Given the description of an element on the screen output the (x, y) to click on. 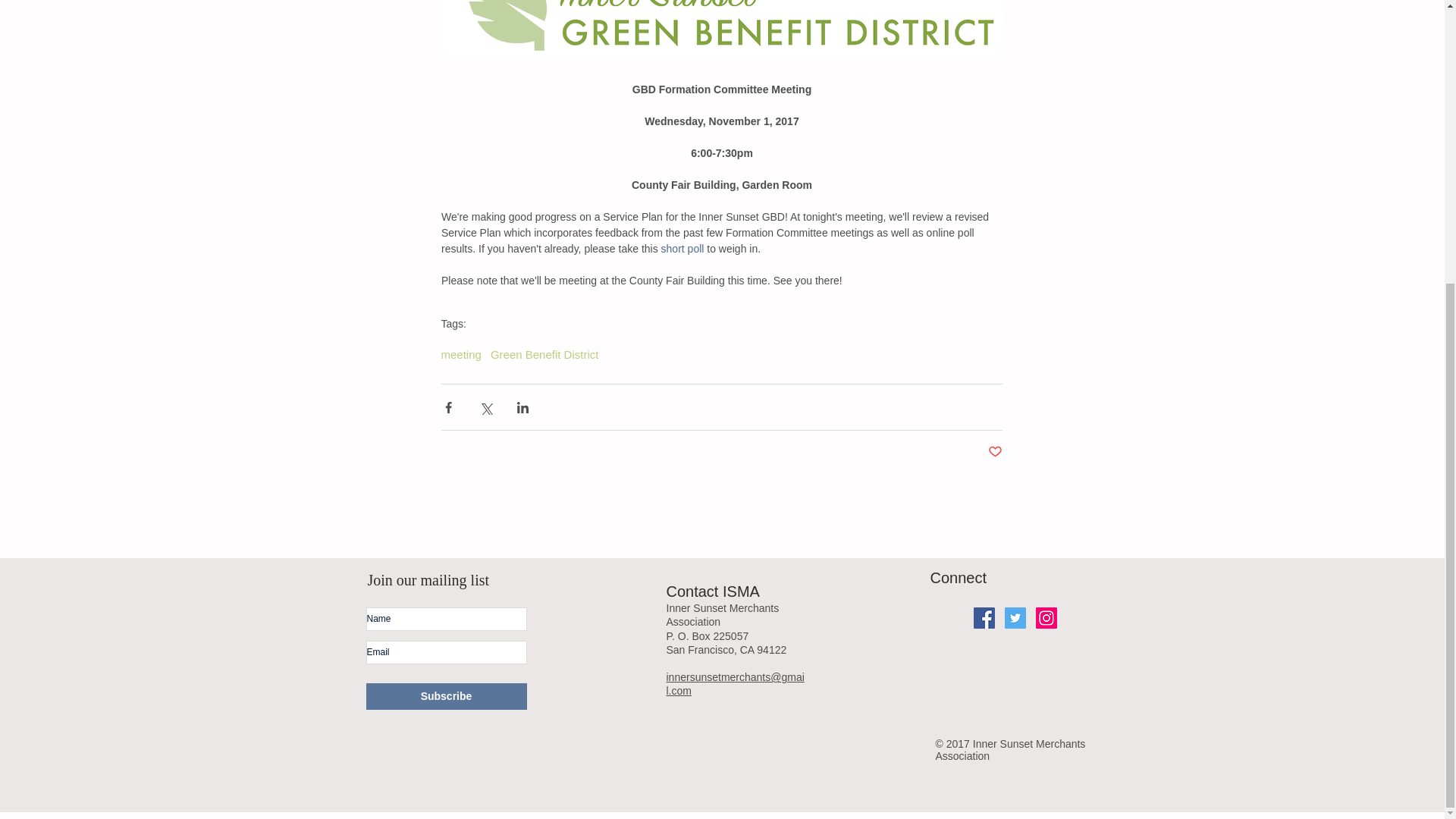
meeting (461, 354)
Green Benefit District (544, 354)
short poll (682, 248)
Post not marked as liked (994, 452)
Subscribe (445, 696)
